Given the description of an element on the screen output the (x, y) to click on. 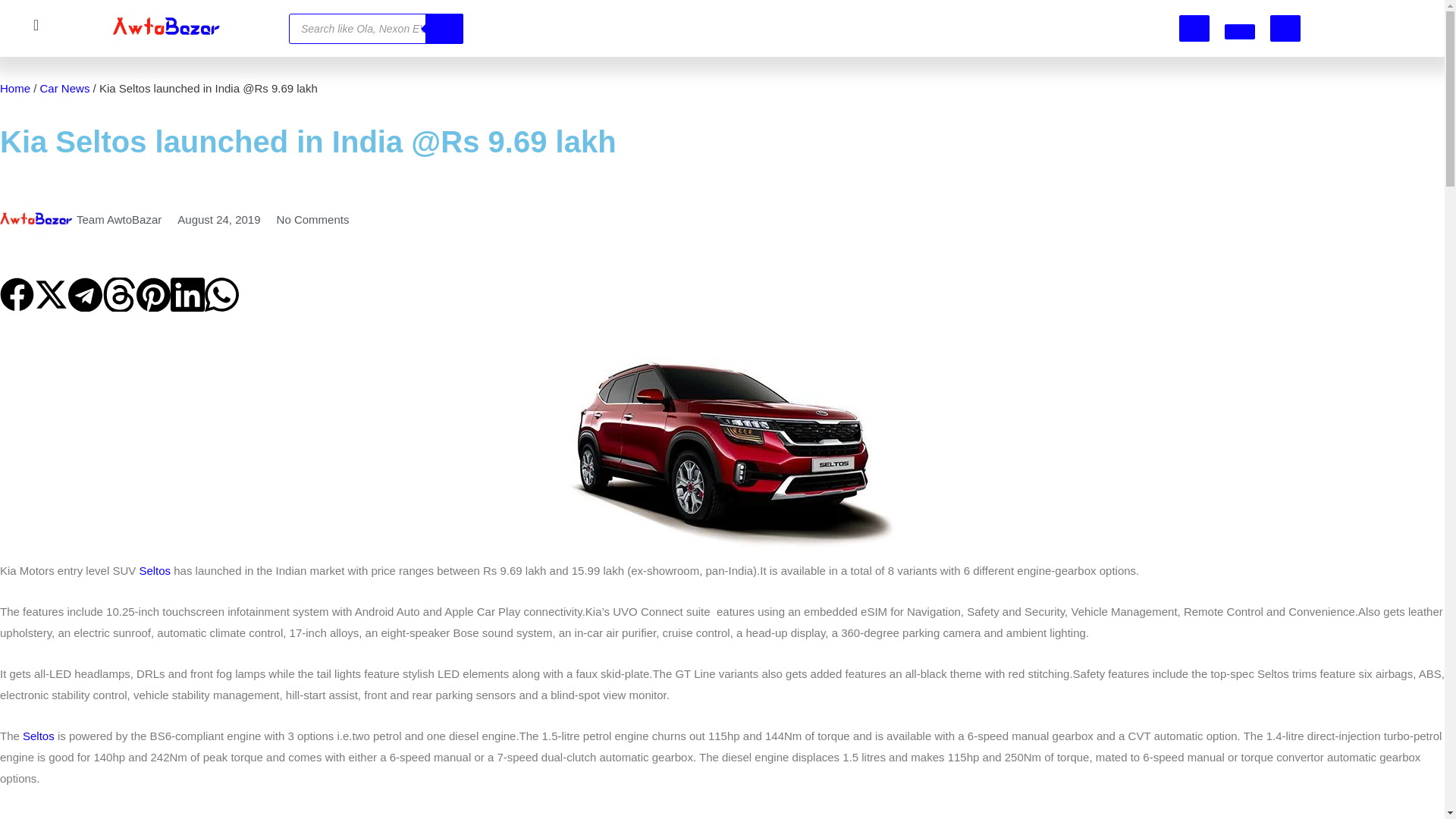
Car News (65, 88)
Seltos (39, 735)
August 24, 2019 (216, 219)
cropped-Awto-Internet.png (167, 28)
Team AwtoBazar (80, 219)
No Comments (311, 219)
Home (15, 88)
Seltos (155, 570)
